Given the description of an element on the screen output the (x, y) to click on. 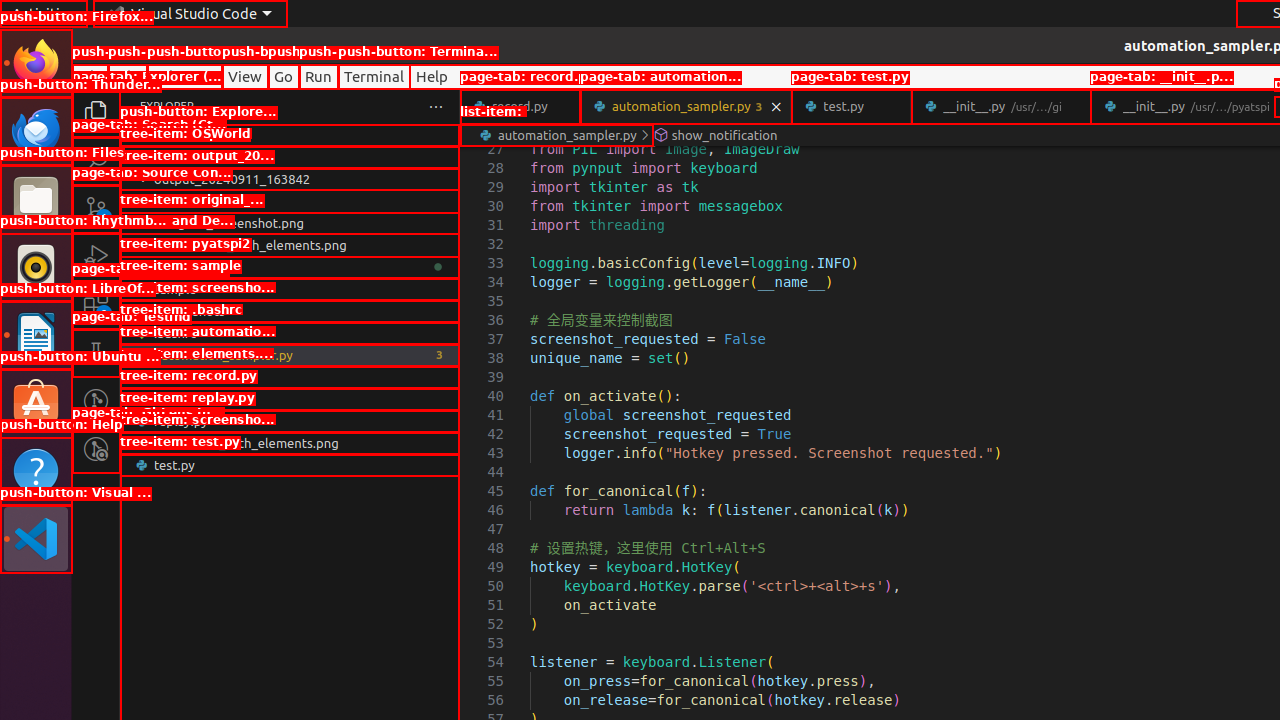
elements.json Element type: tree-item (289, 377)
test.py Element type: page-tab (851, 106)
replay.py Element type: tree-item (289, 421)
Run and Debug (Ctrl+Shift+D) Element type: page-tab (96, 257)
Go Element type: push-button (283, 76)
